Given the description of an element on the screen output the (x, y) to click on. 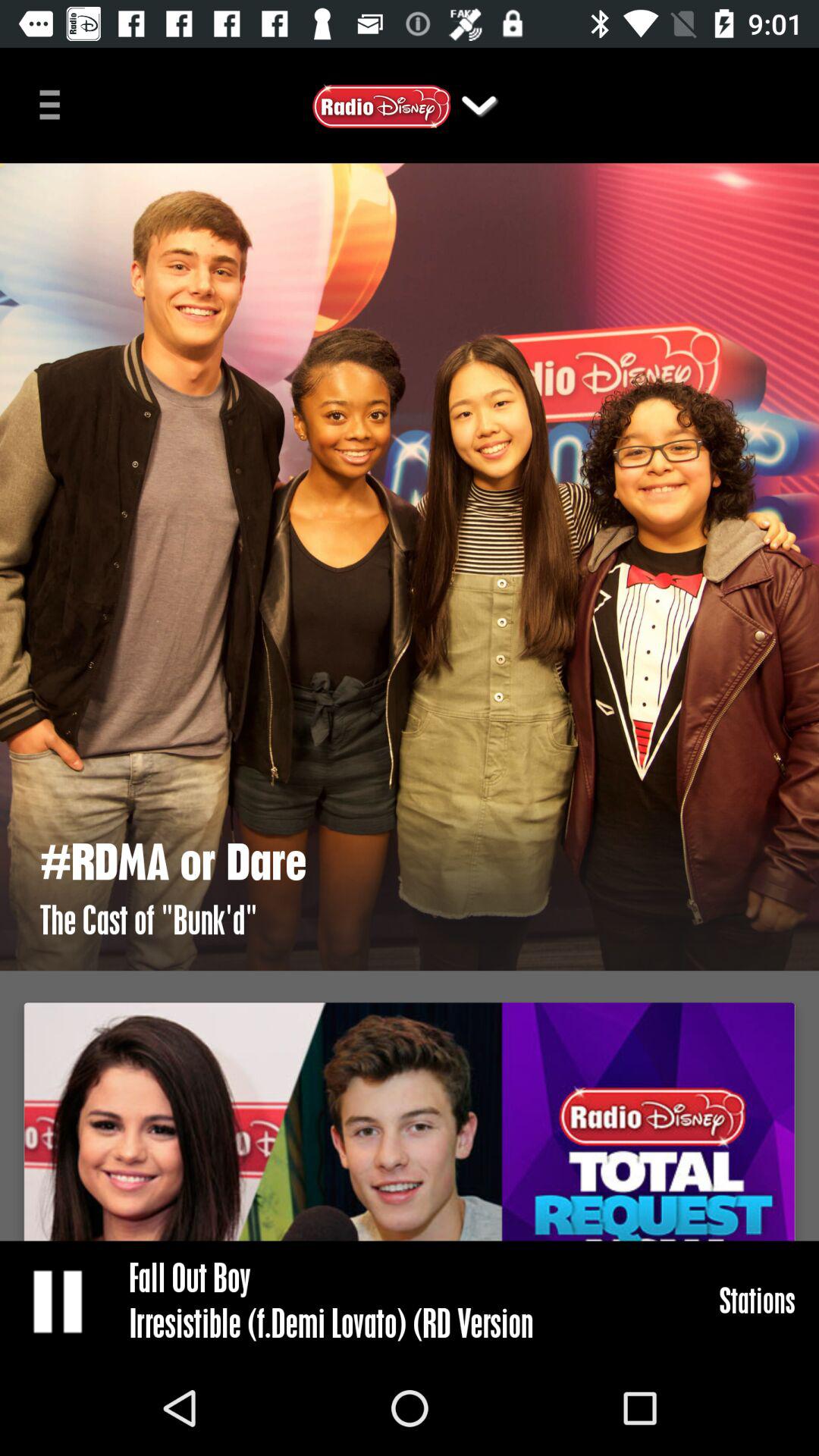
scroll until the stations icon (757, 1300)
